Given the description of an element on the screen output the (x, y) to click on. 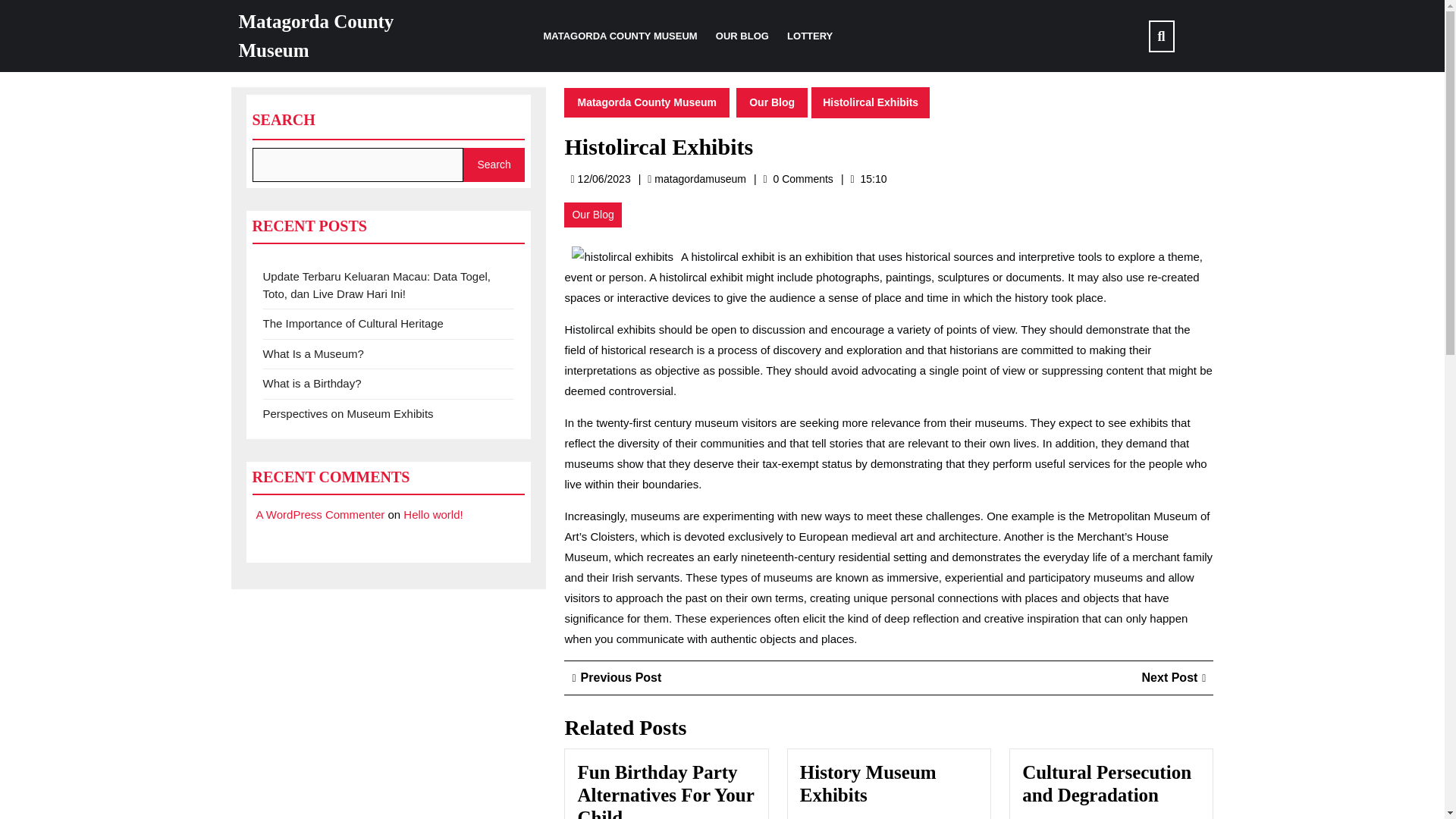
What Is a Museum? (312, 353)
The Importance of Cultural Heritage (352, 323)
MATAGORDA COUNTY MUSEUM (620, 35)
History Museum Exhibits (867, 783)
Hello world! (433, 513)
Fun Birthday Party Alternatives For Your Child (699, 178)
A WordPress Commenter (665, 790)
Search (320, 513)
Matagorda County Museum (494, 164)
